Given the description of an element on the screen output the (x, y) to click on. 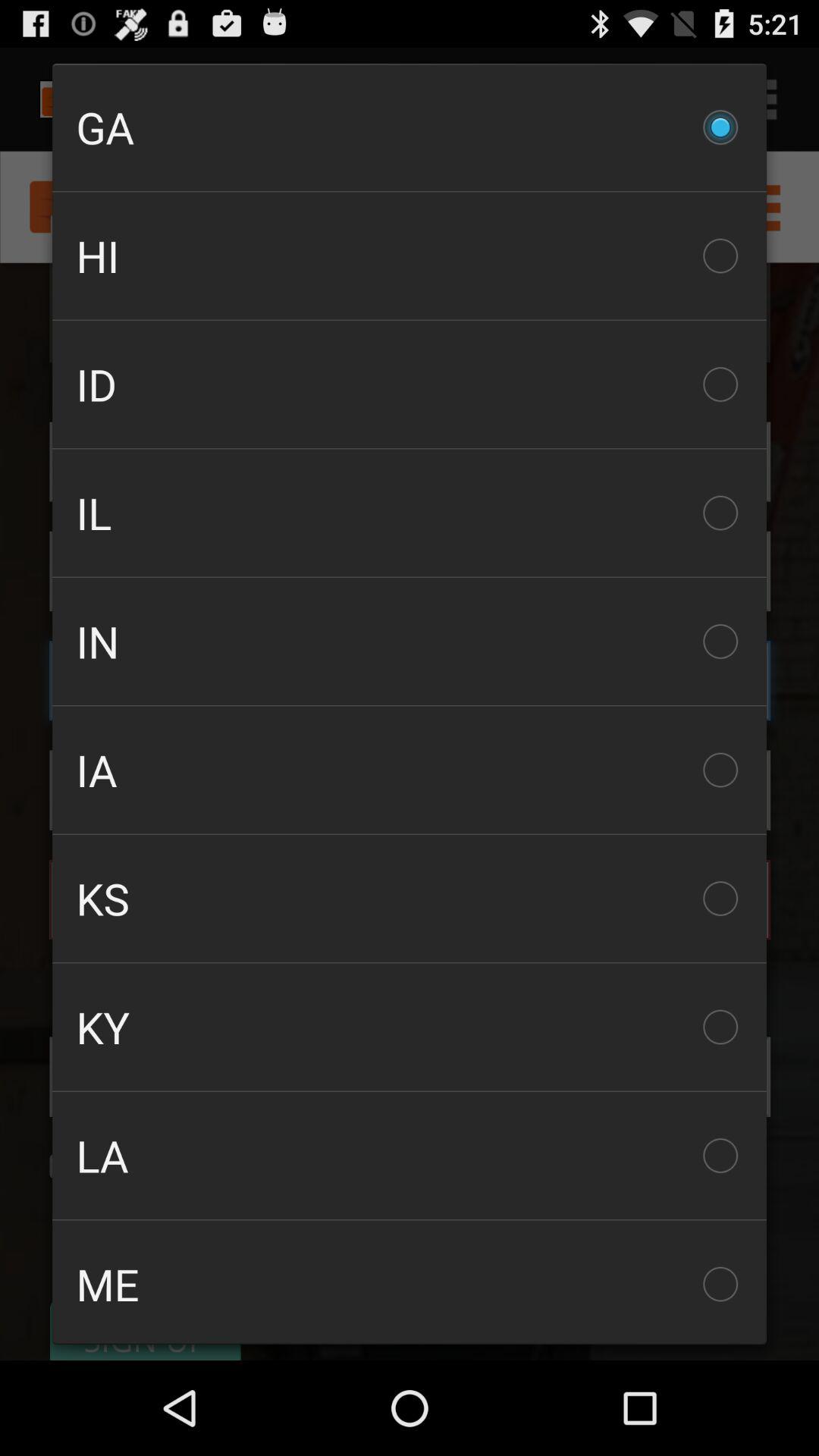
choose the me icon (409, 1282)
